Given the description of an element on the screen output the (x, y) to click on. 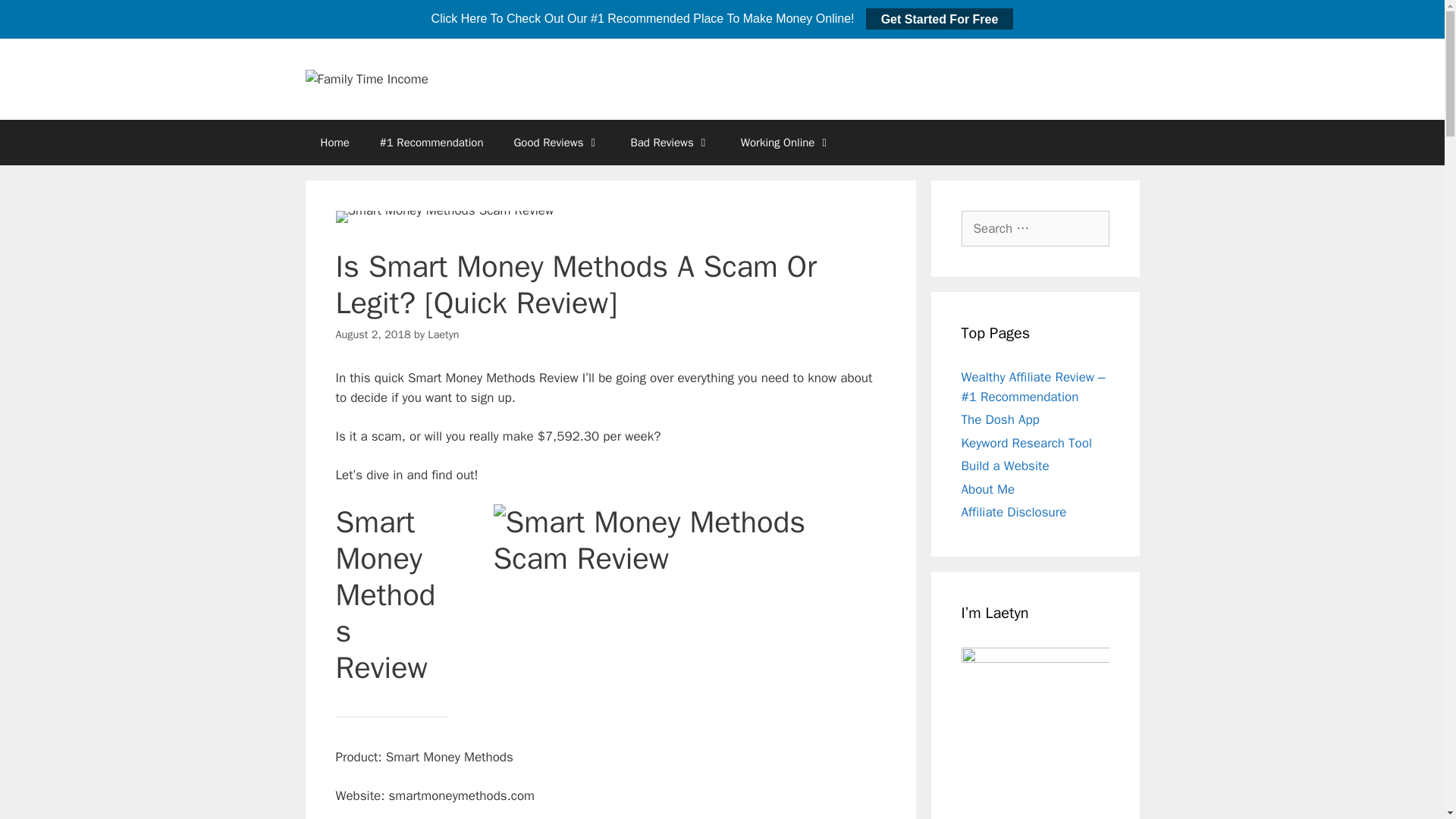
View all posts by Laetyn (443, 334)
Home (334, 142)
Good Reviews (555, 142)
Working Online (786, 142)
August 2, 2018 (372, 334)
Laetyn (443, 334)
Bad Reviews (669, 142)
Search for: (1034, 228)
5:49 pm (372, 334)
Family Time Income (366, 78)
